Given the description of an element on the screen output the (x, y) to click on. 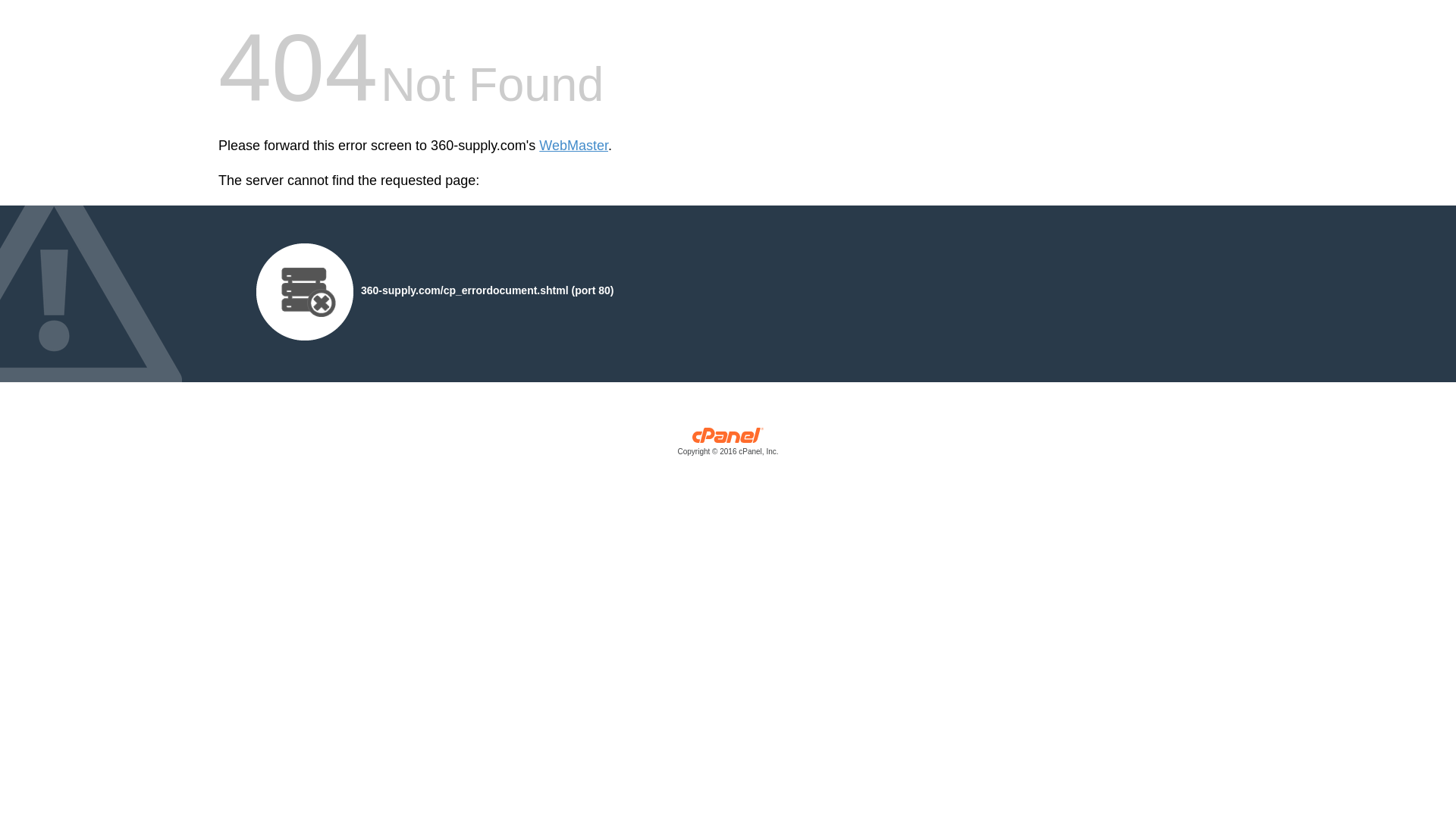
WebMaster Element type: text (573, 145)
